Given the description of an element on the screen output the (x, y) to click on. 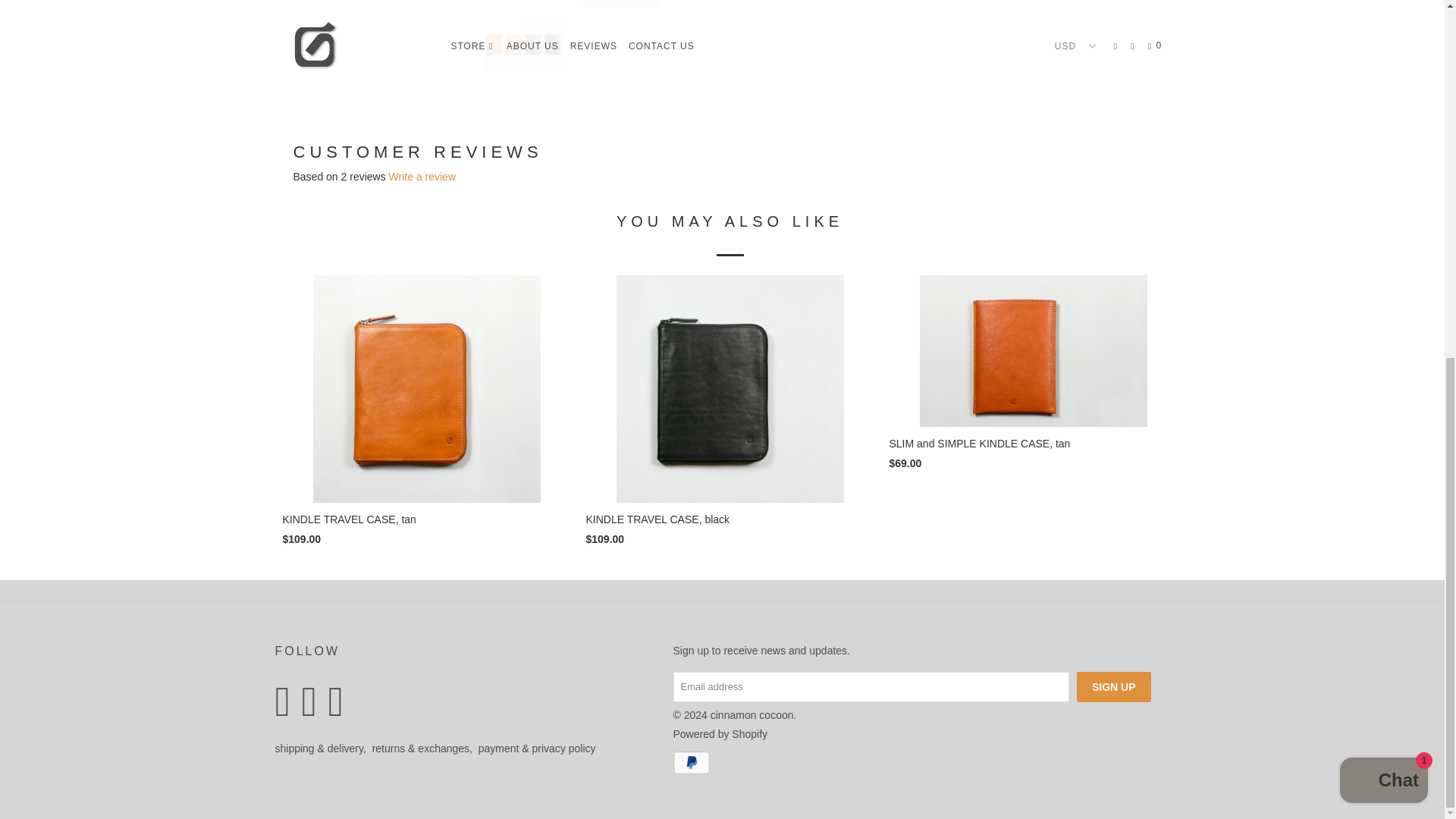
Sign Up (1114, 686)
PayPal (692, 762)
